Given the description of an element on the screen output the (x, y) to click on. 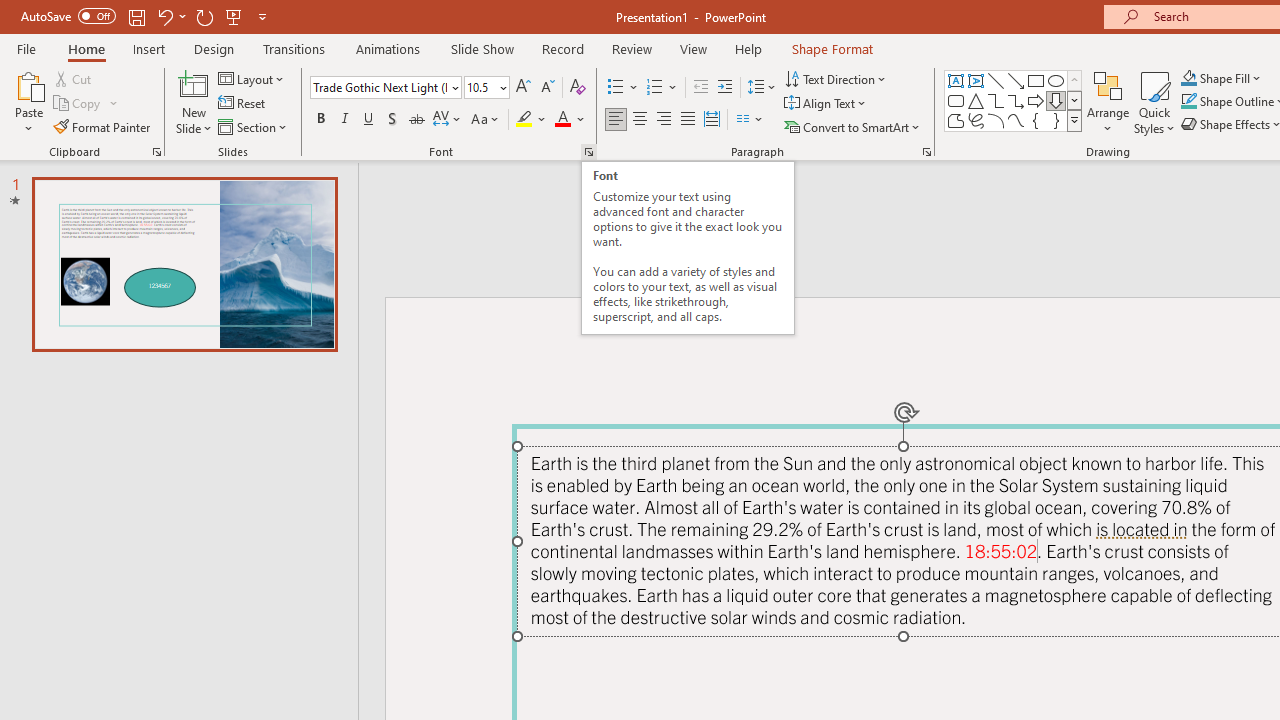
Bold (320, 119)
Clear Formatting (577, 87)
Columns (750, 119)
Font Size (480, 87)
Paragraph... (926, 151)
Freeform: Scribble (975, 120)
Font... (588, 151)
Open (502, 87)
AutomationID: ShapesInsertGallery (1014, 100)
Shadow (392, 119)
